Given the description of an element on the screen output the (x, y) to click on. 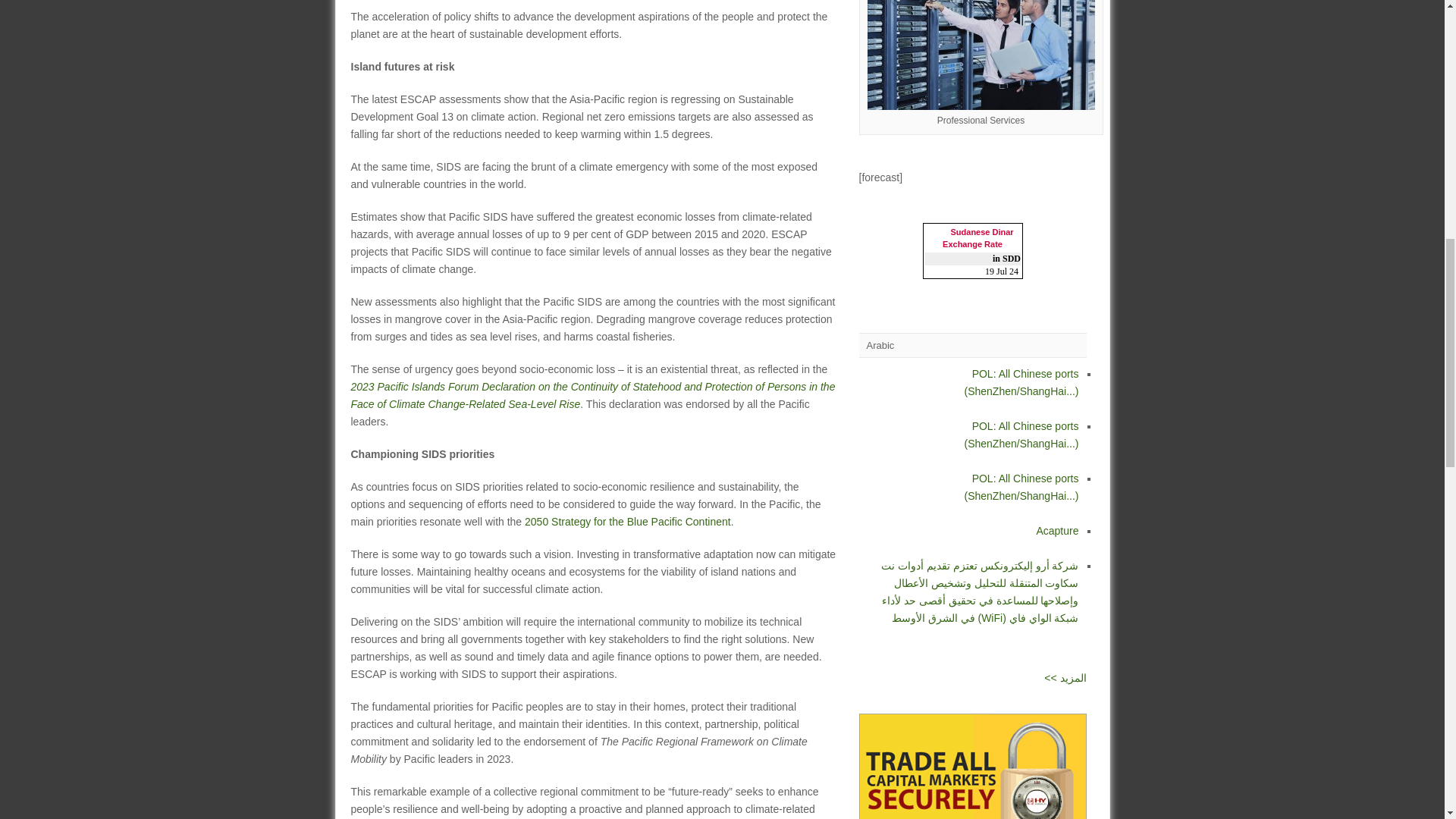
  Sudanese Dinar Exchange Rate (972, 237)
Sudanese Dinar Exchange Rate (972, 237)
19 Jul 24  (1002, 271)
2050 Strategy for the Blue Pacific Continent (627, 521)
in SDD (1006, 258)
Acapture (977, 538)
